Given the description of an element on the screen output the (x, y) to click on. 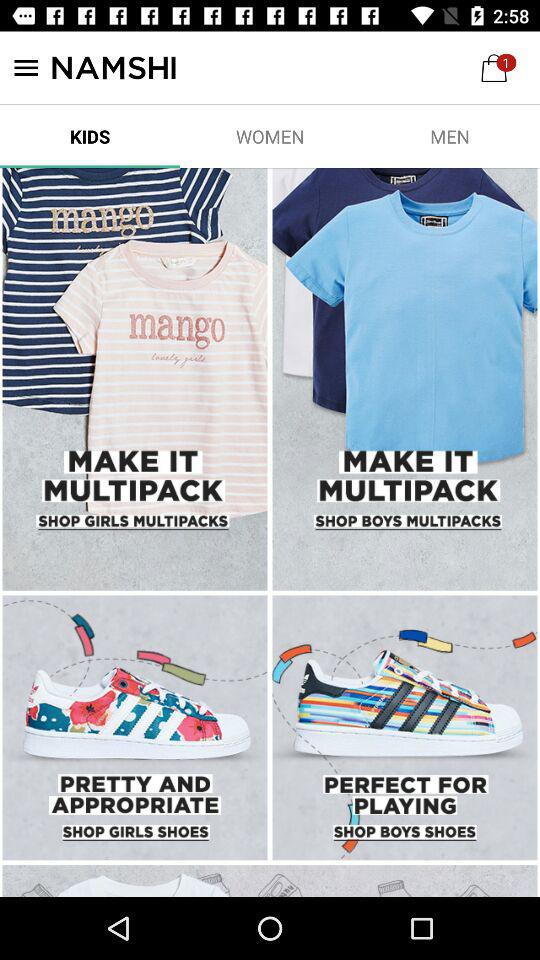
press the item to the left of women icon (90, 136)
